Given the description of an element on the screen output the (x, y) to click on. 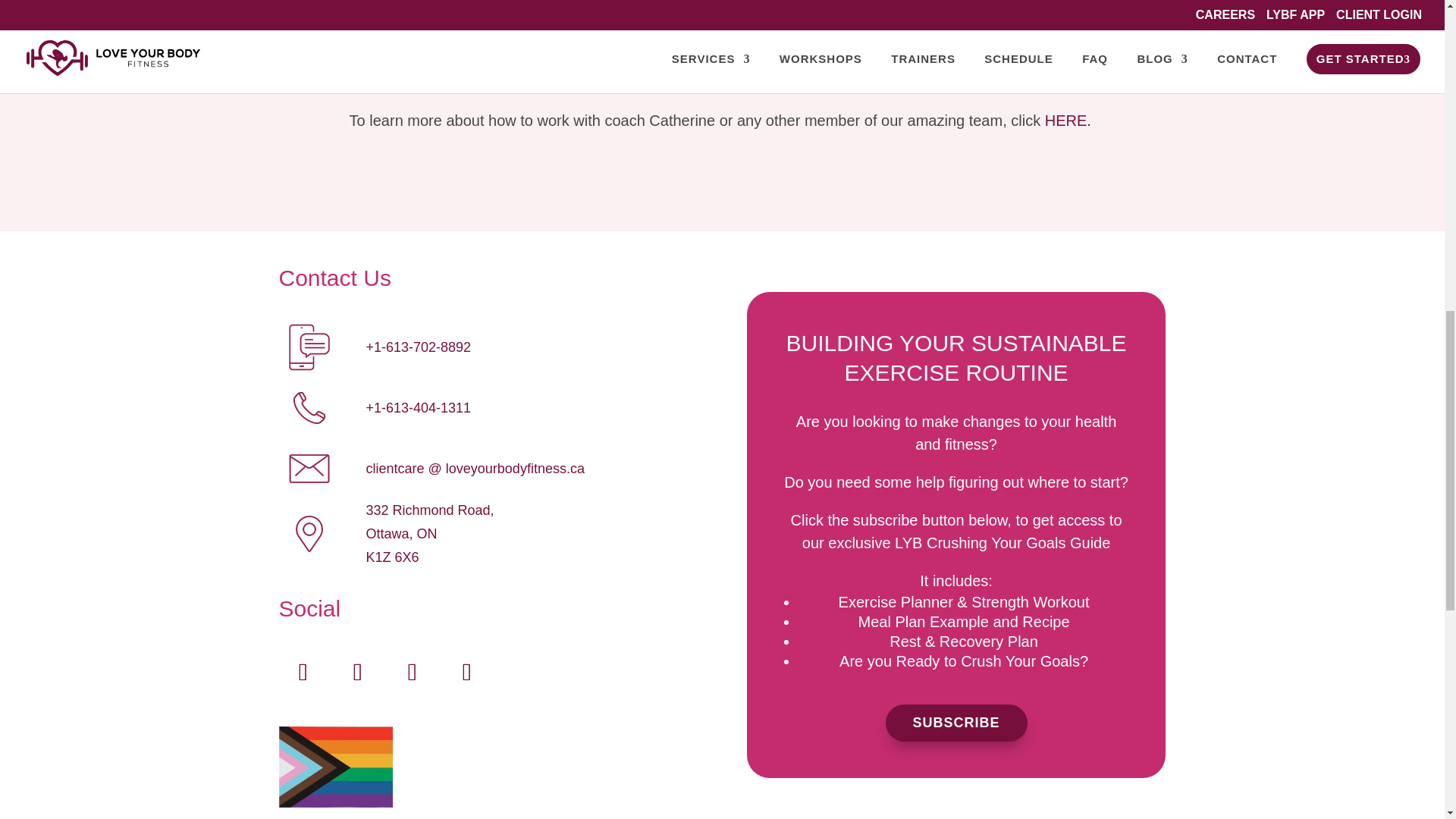
Pride Flag Love Your Body Fitness 2SLGBTQI Westboro (336, 766)
Follow on Youtube (412, 671)
Follow on Instagram (357, 671)
Follow on Facebook (303, 671)
Follow on LinkedIn (467, 671)
